Given the description of an element on the screen output the (x, y) to click on. 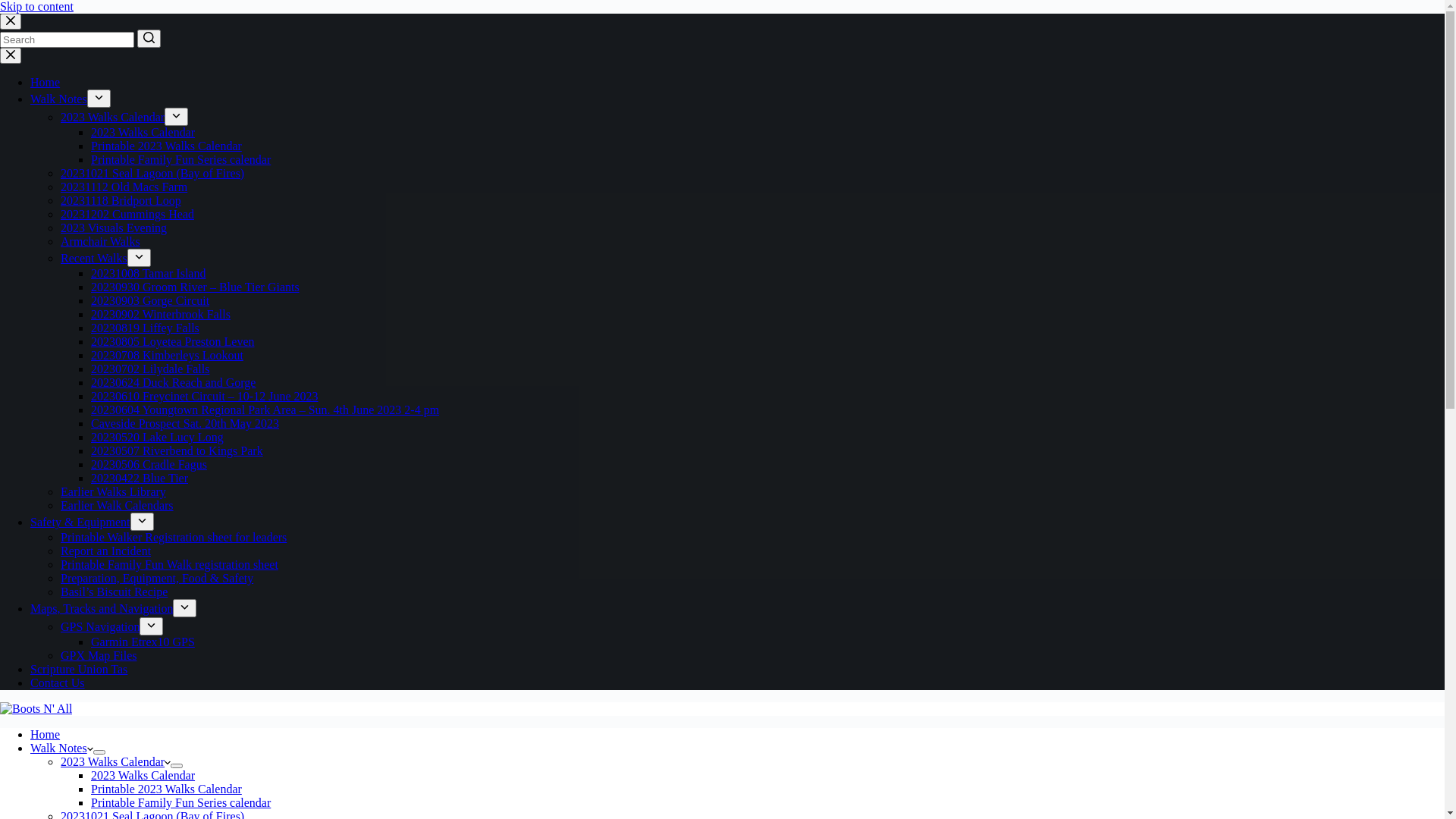
Printable 2023 Walks Calendar Element type: text (166, 788)
2023 Walks Calendar Element type: text (142, 774)
20230805 Loyetea Preston Leven Element type: text (172, 341)
Printable 2023 Walks Calendar Element type: text (166, 145)
Recent Walks Element type: text (93, 257)
Earlier Walk Calendars Element type: text (116, 504)
20231202 Cummings Head Element type: text (127, 213)
Printable Family Fun Series calendar Element type: text (180, 159)
Printable Family Fun Series calendar Element type: text (180, 802)
Walk Notes Element type: text (61, 747)
2023 Walks Calendar Element type: text (115, 761)
Garmin Etrex10 GPS Element type: text (142, 641)
20230819 Liffey Falls Element type: text (145, 327)
20230708 Kimberleys Lookout Element type: text (167, 354)
20230903 Gorge Circuit Element type: text (150, 300)
20230507 Riverbend to Kings Park Element type: text (177, 450)
20231112 Old Macs Farm Element type: text (123, 186)
20231008 Tamar Island Element type: text (148, 272)
20231118 Bridport Loop Element type: text (120, 200)
Search for... Element type: hover (67, 39)
Earlier Walks Library Element type: text (113, 491)
20230624 Duck Reach and Gorge Element type: text (173, 382)
Report an Incident Element type: text (105, 550)
2023 Walks Calendar Element type: text (142, 131)
20230902 Winterbrook Falls Element type: text (160, 313)
2023 Visuals Evening Element type: text (113, 227)
GPS Navigation Element type: text (99, 626)
Safety & Equipment Element type: text (80, 521)
Preparation, Equipment, Food & Safety Element type: text (156, 577)
20230702 Lilydale Falls Element type: text (150, 368)
Armchair Walks Element type: text (100, 241)
Printable Family Fun Walk registration sheet Element type: text (169, 564)
20230520 Lake Lucy Long Element type: text (157, 436)
Maps, Tracks and Navigation Element type: text (101, 608)
Scripture Union Tas Element type: text (78, 668)
Caveside Prospect Sat. 20th May 2023 Element type: text (185, 423)
Contact Us Element type: text (57, 682)
GPX Map Files Element type: text (98, 655)
20231021 Seal Lagoon (Bay of Fires) Element type: text (152, 172)
Printable Walker Registration sheet for leaders Element type: text (173, 536)
20230422 Blue Tier Element type: text (139, 477)
20230506 Cradle Fagus Element type: text (149, 464)
Skip to content Element type: text (36, 6)
Home Element type: text (44, 81)
Home Element type: text (44, 734)
Walk Notes Element type: text (58, 98)
2023 Walks Calendar Element type: text (112, 116)
